Given the description of an element on the screen output the (x, y) to click on. 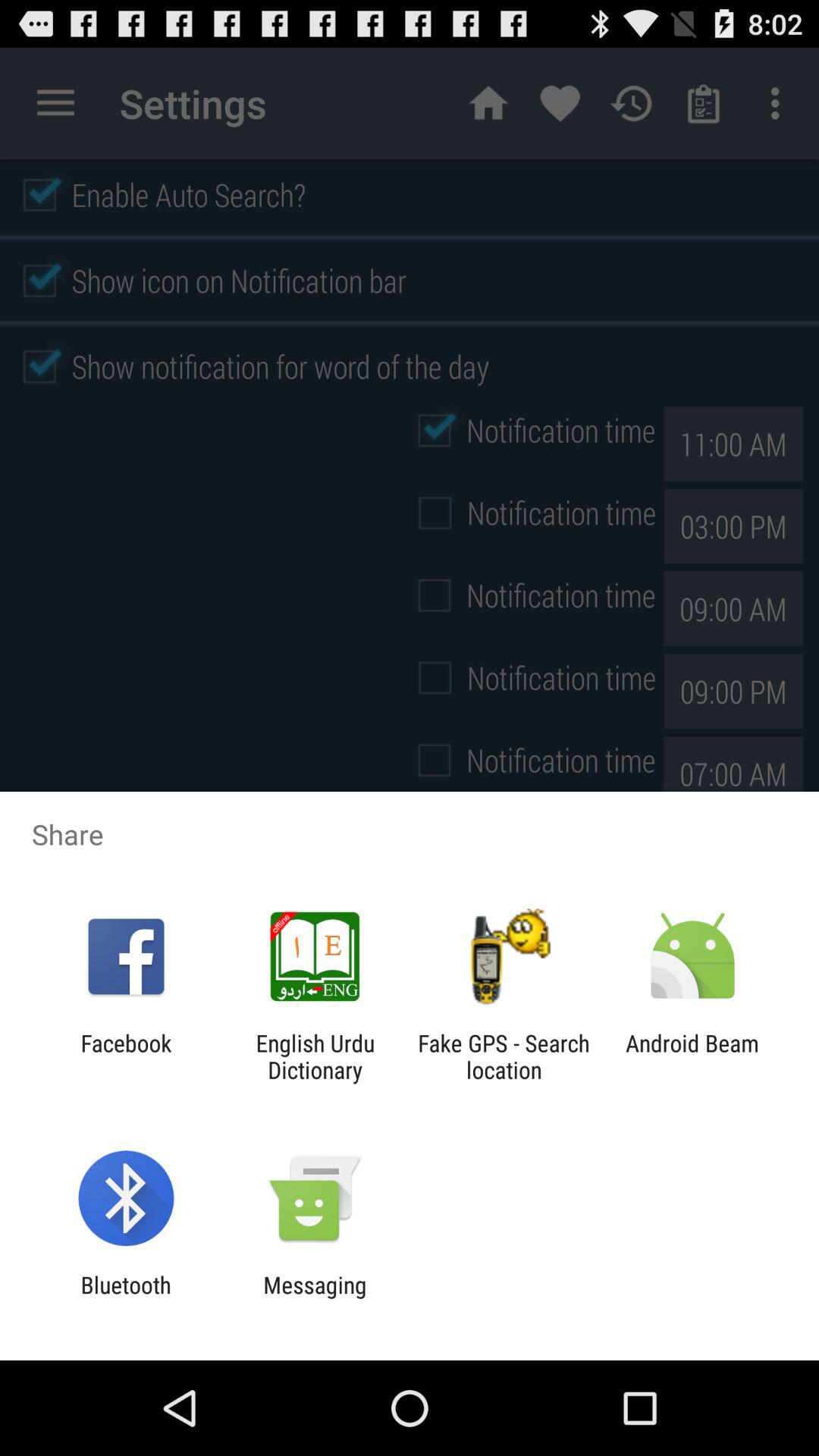
turn on the item next to english urdu dictionary app (125, 1056)
